Given the description of an element on the screen output the (x, y) to click on. 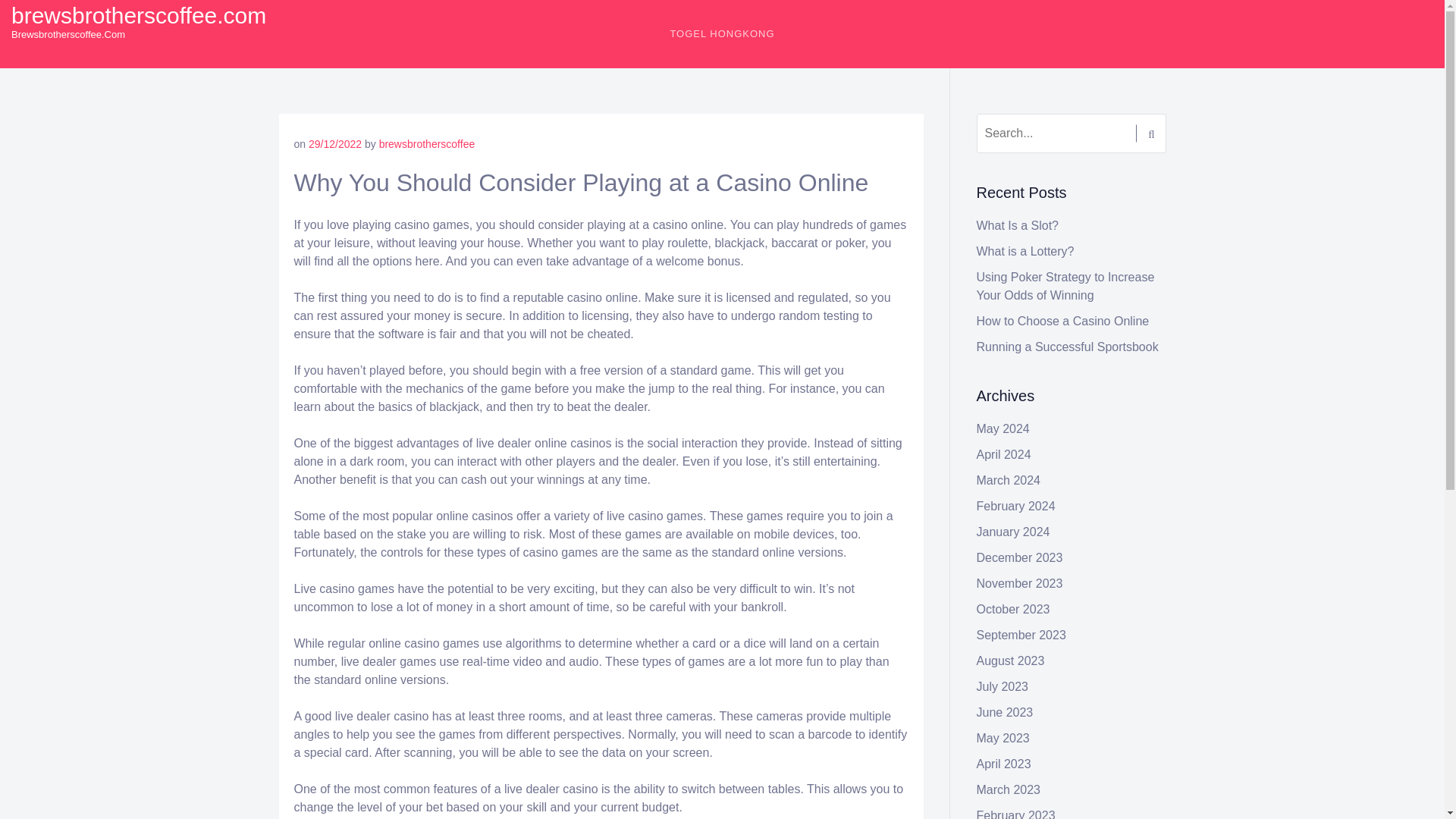
January 2024 (1012, 531)
November 2023 (1019, 583)
February 2023 (1015, 814)
July 2023 (1002, 686)
December 2023 (1019, 557)
TOGEL HONGKONG (722, 33)
April 2024 (1003, 454)
August 2023 (1010, 660)
February 2024 (1015, 505)
May 2023 (1002, 738)
